Given the description of an element on the screen output the (x, y) to click on. 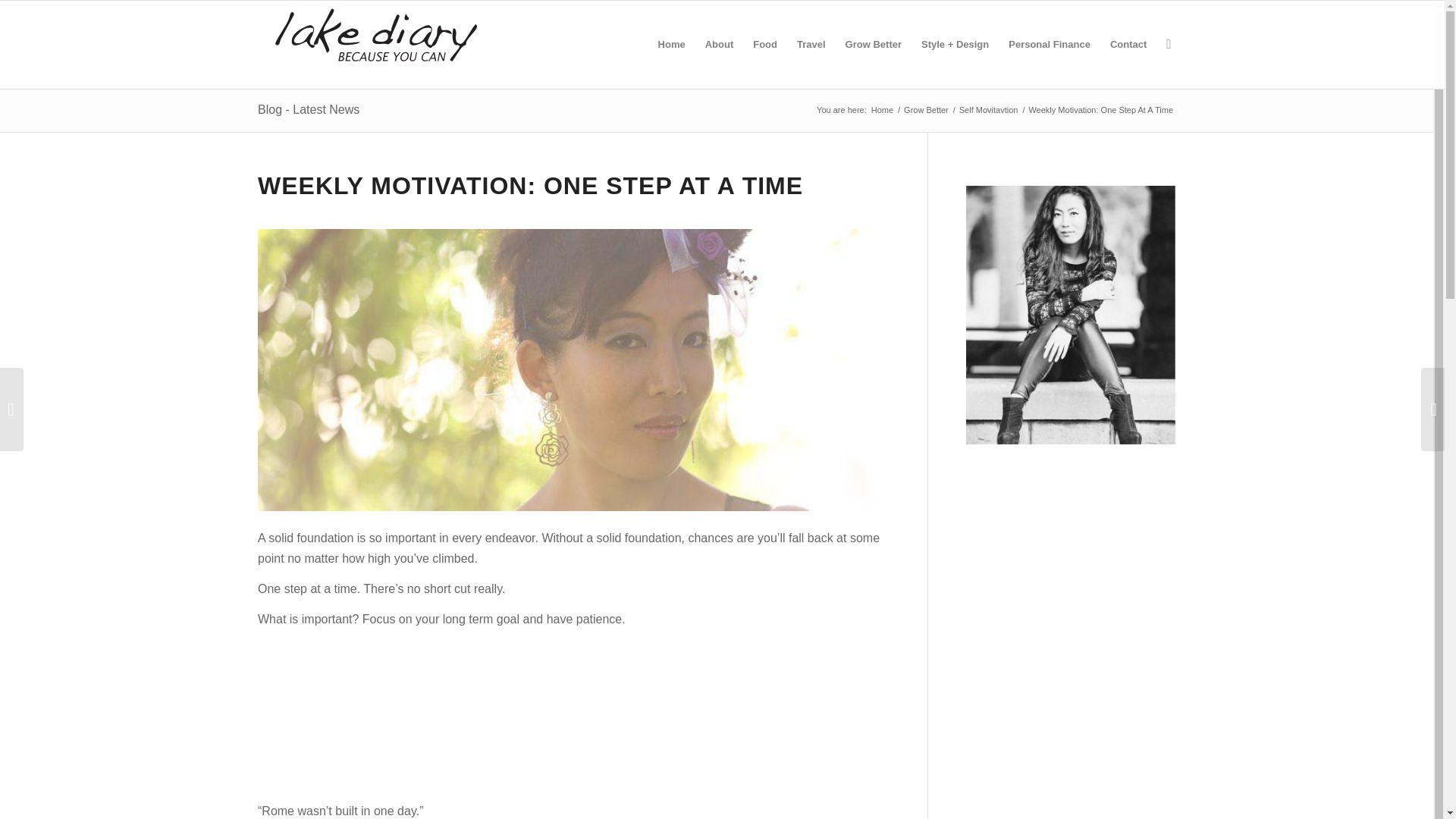
Self Movitavtion (988, 110)
lakediary-logo-3 (376, 44)
Personal Finance (1049, 44)
Permanent Link: Blog - Latest News (308, 109)
Advertisement (573, 715)
Home (882, 110)
Grow Better (925, 110)
Blog - Latest News (308, 109)
Lake Diary (882, 110)
